Given the description of an element on the screen output the (x, y) to click on. 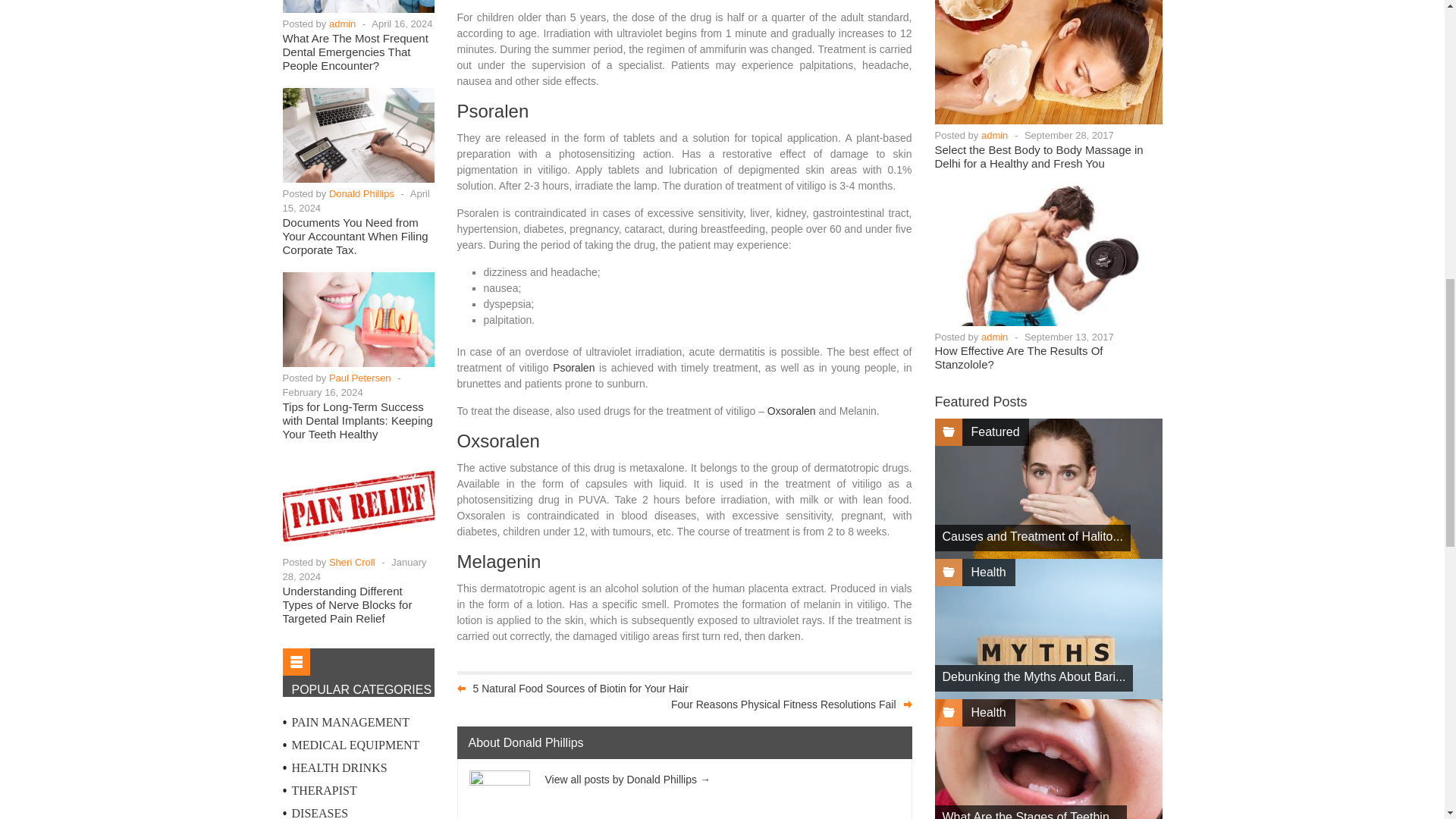
Oxsoralen (791, 410)
Posts by admin (994, 134)
Posts by Donald Phillips (361, 193)
Posts by Sheri Croll (352, 562)
Posts by admin (994, 336)
Posts by Paul Petersen (360, 377)
Four Reasons Physical Fitness Resolutions Fail (783, 704)
Posts by admin (342, 23)
Psoralen (573, 367)
5 Natural Food Sources of Biotin for Your Hair (580, 688)
